Given the description of an element on the screen output the (x, y) to click on. 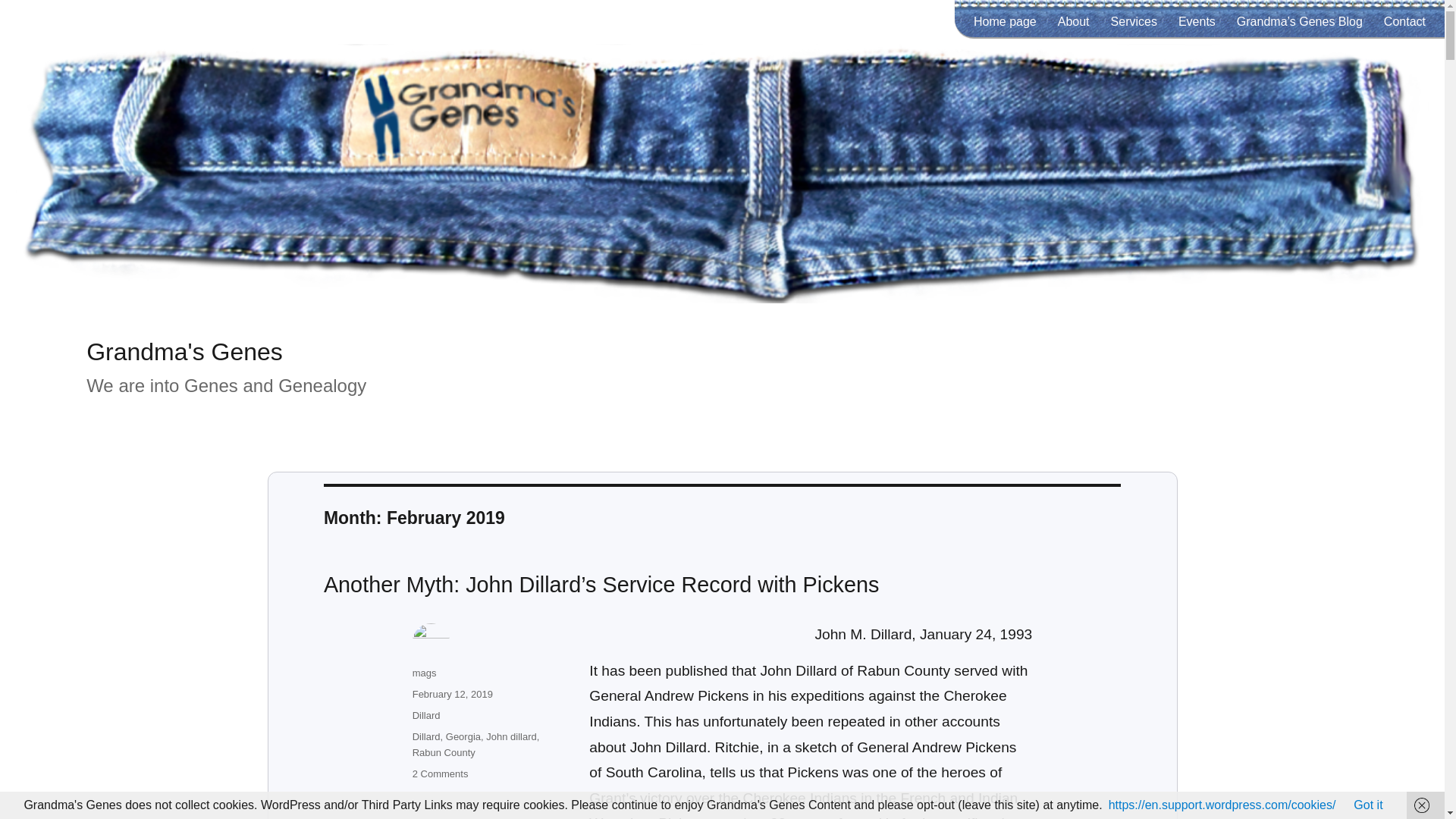
Georgia (462, 736)
Home page (1004, 20)
John dillard (511, 736)
February 12, 2019 (452, 694)
mags (424, 672)
Dillard (426, 715)
Services (1133, 20)
Events (1196, 20)
Contact (1404, 20)
Dillard (426, 736)
